Given the description of an element on the screen output the (x, y) to click on. 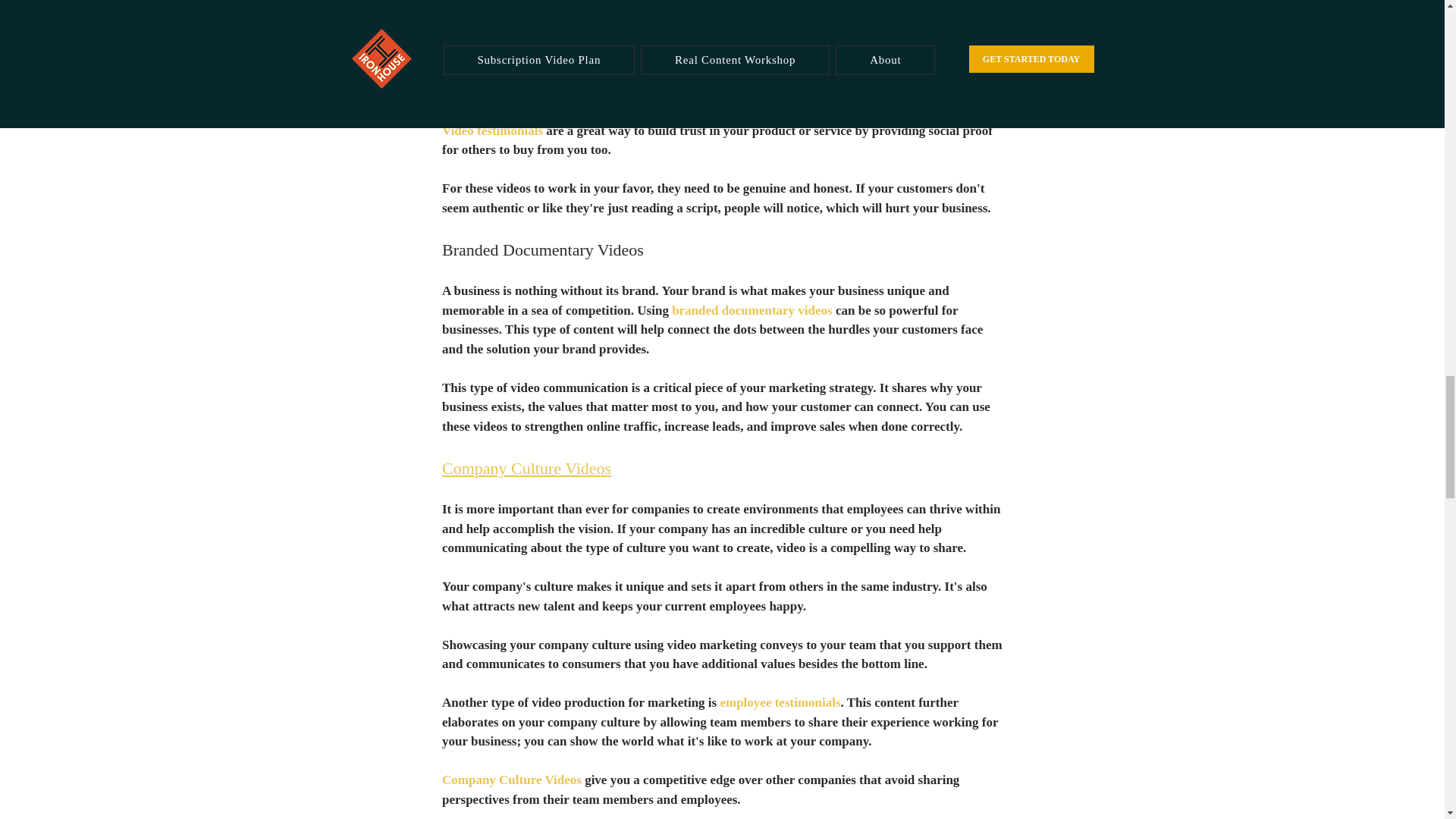
Company Culture Videos (510, 780)
Customer Testimonials (510, 12)
Video testimonials (491, 130)
employee testimonials (779, 702)
branded documentary videos (751, 310)
Company Culture Videos (525, 467)
